Given the description of an element on the screen output the (x, y) to click on. 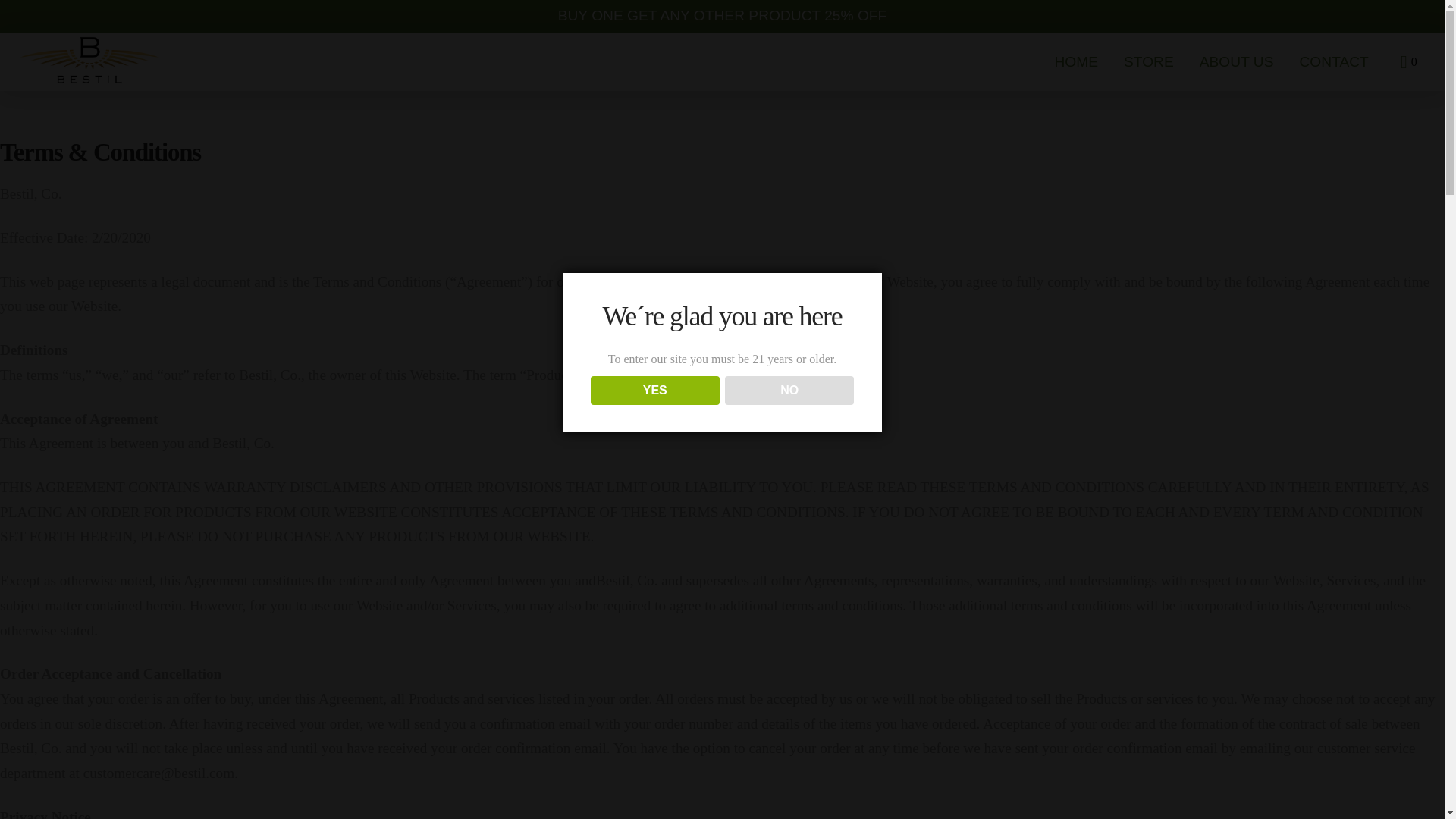
CONTACT (1332, 61)
STORE (1148, 61)
NO (789, 389)
ABOUT US (1236, 61)
YES (655, 389)
HOME (1075, 61)
